Given the description of an element on the screen output the (x, y) to click on. 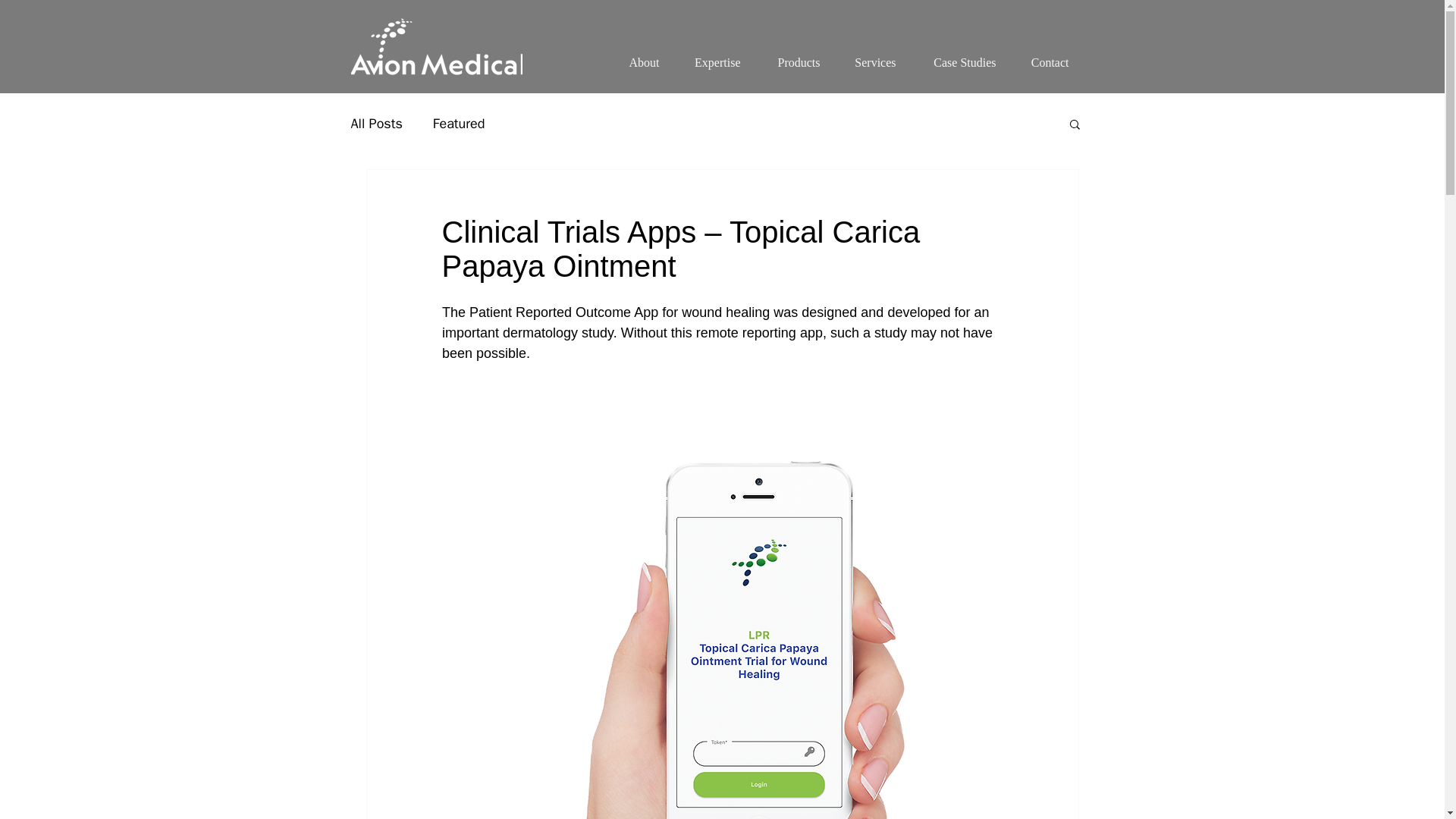
Featured (458, 123)
All Posts (375, 123)
Contact (1046, 55)
Products (793, 55)
About (641, 55)
Case Studies (960, 55)
Services (872, 55)
Expertise (713, 55)
